Given the description of an element on the screen output the (x, y) to click on. 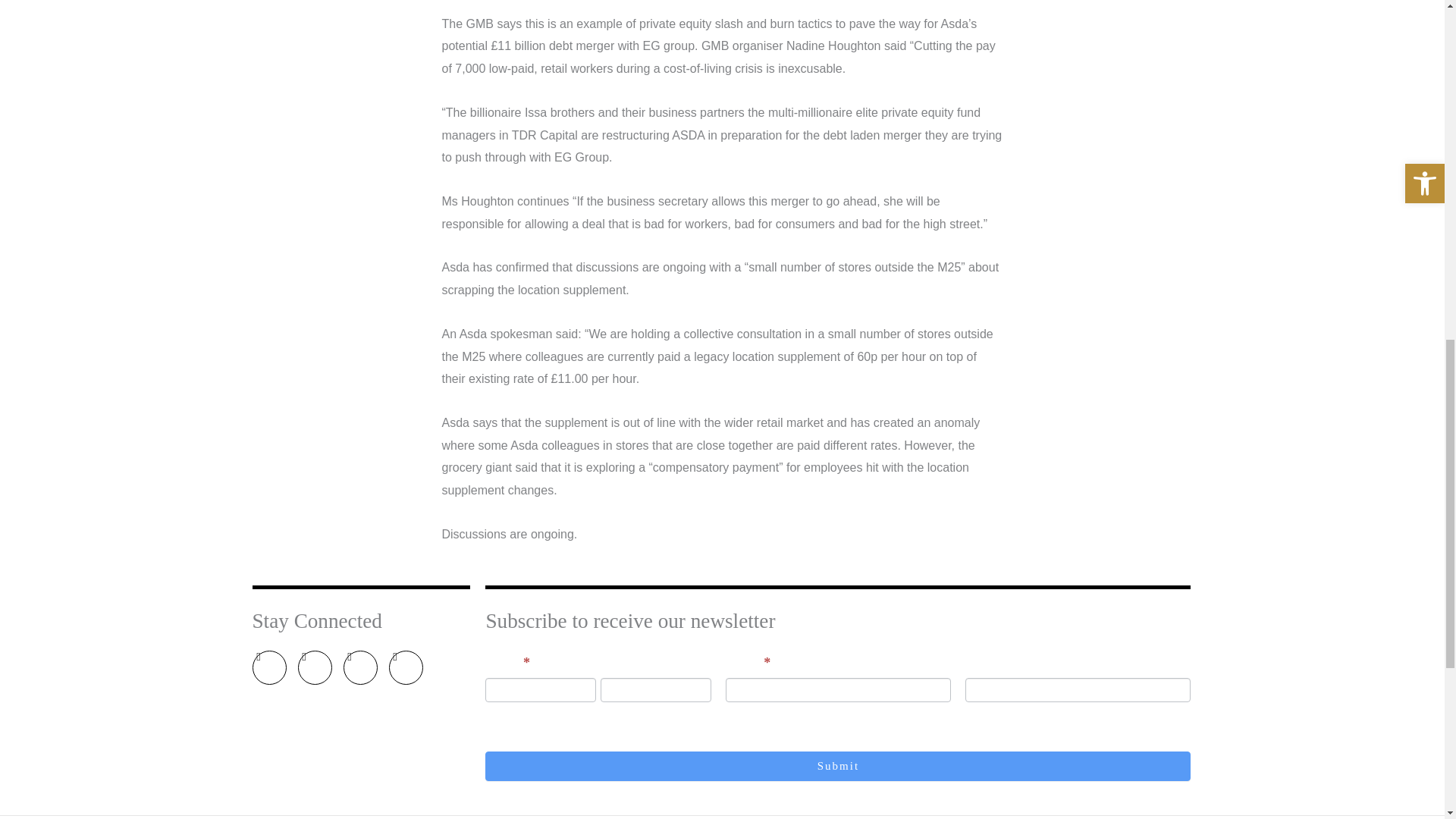
Instagram (268, 667)
Facebook (405, 667)
Submit (837, 766)
Twitter (359, 667)
Youtube (314, 667)
